Given the description of an element on the screen output the (x, y) to click on. 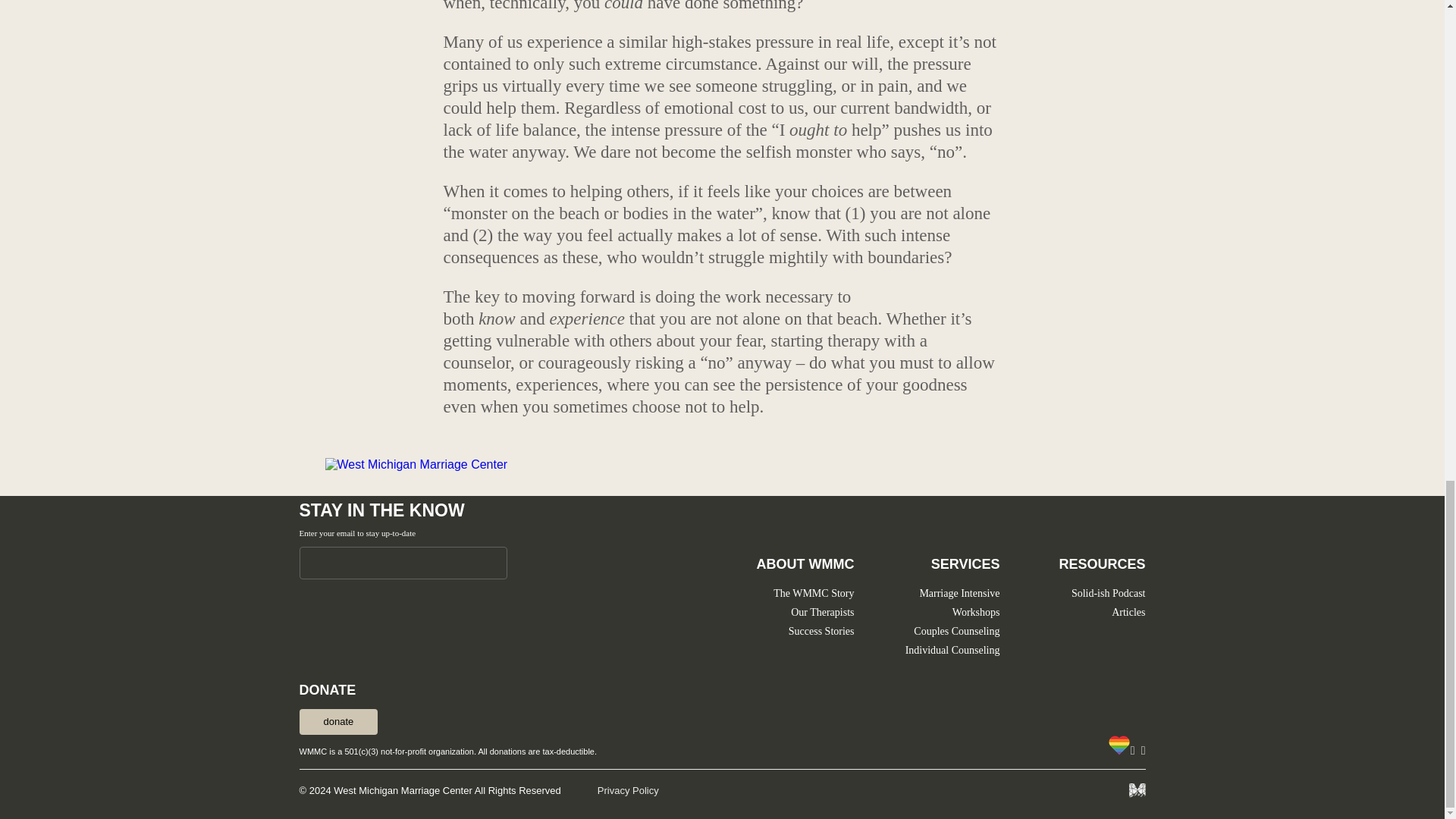
The WMMC Story (813, 593)
Workshops (976, 612)
Articles (1128, 612)
Solid-ish Podcast (1108, 593)
donate (337, 721)
Marriage Intensive (958, 593)
Couples Counseling (956, 631)
Success Stories (821, 631)
Individual Counseling (952, 650)
Our Therapists (821, 612)
